Given the description of an element on the screen output the (x, y) to click on. 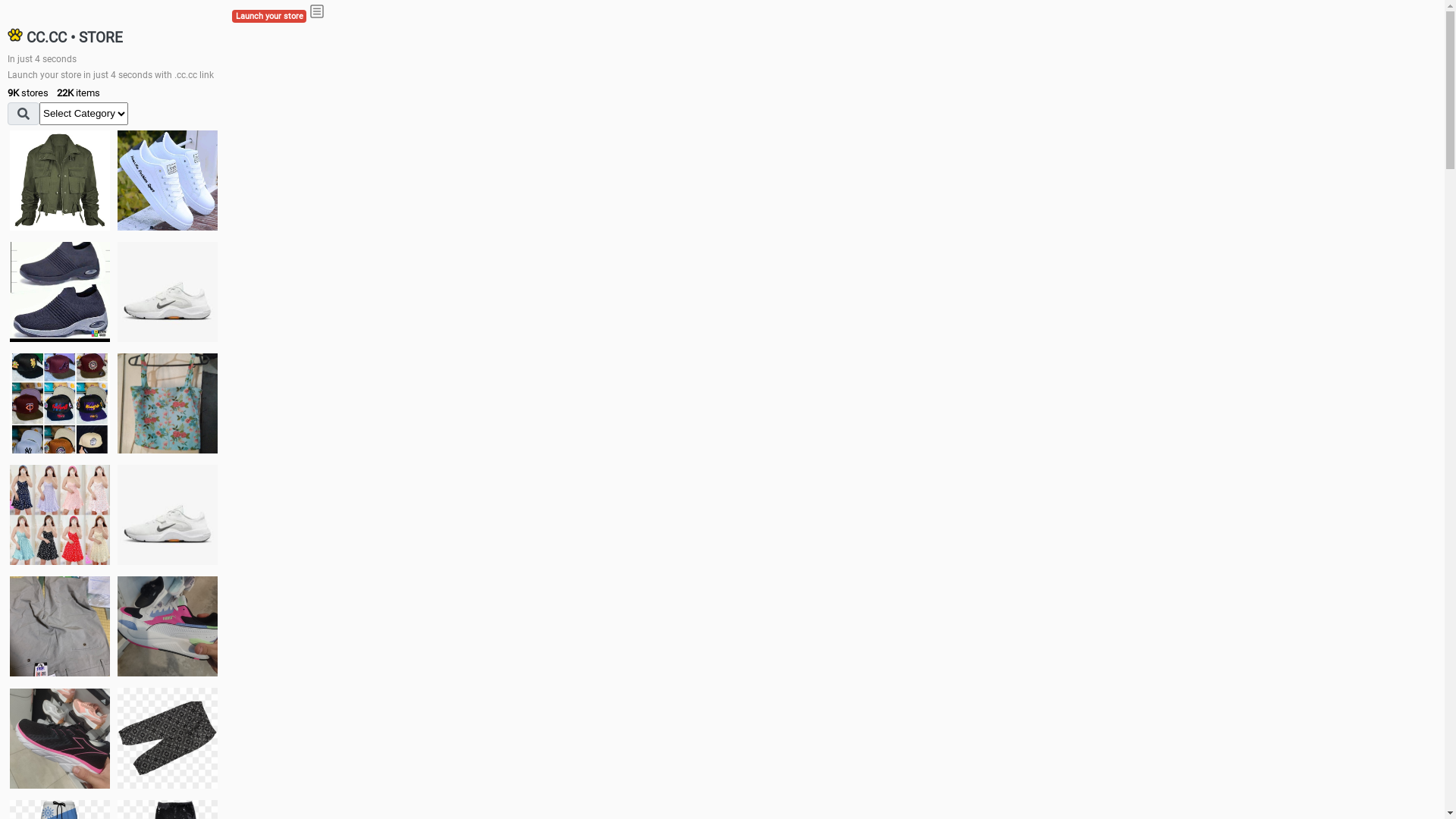
Dress/square nect top Element type: hover (59, 514)
Zapatillas pumas Element type: hover (167, 626)
Shoes for boys Element type: hover (167, 291)
Zapatillas Element type: hover (59, 738)
Ukay cloth Element type: hover (167, 403)
jacket Element type: hover (59, 180)
shoes for boys Element type: hover (59, 291)
Shoes Element type: hover (167, 514)
Short pant Element type: hover (167, 737)
Launch your store Element type: text (269, 15)
white shoes Element type: hover (167, 180)
Things we need Element type: hover (59, 403)
